Given the description of an element on the screen output the (x, y) to click on. 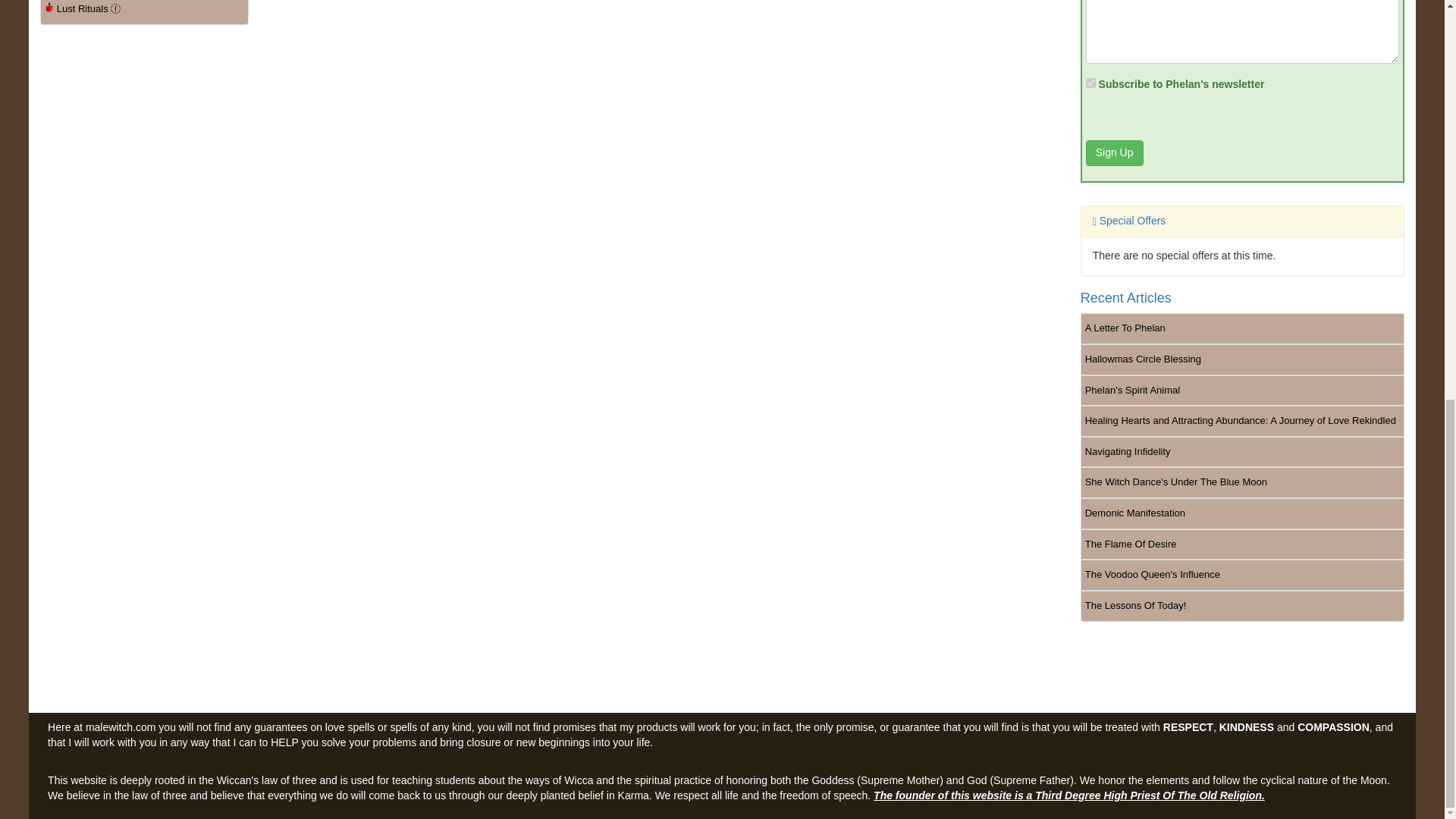
1 (1091, 82)
Lust Rituals (144, 12)
